Given the description of an element on the screen output the (x, y) to click on. 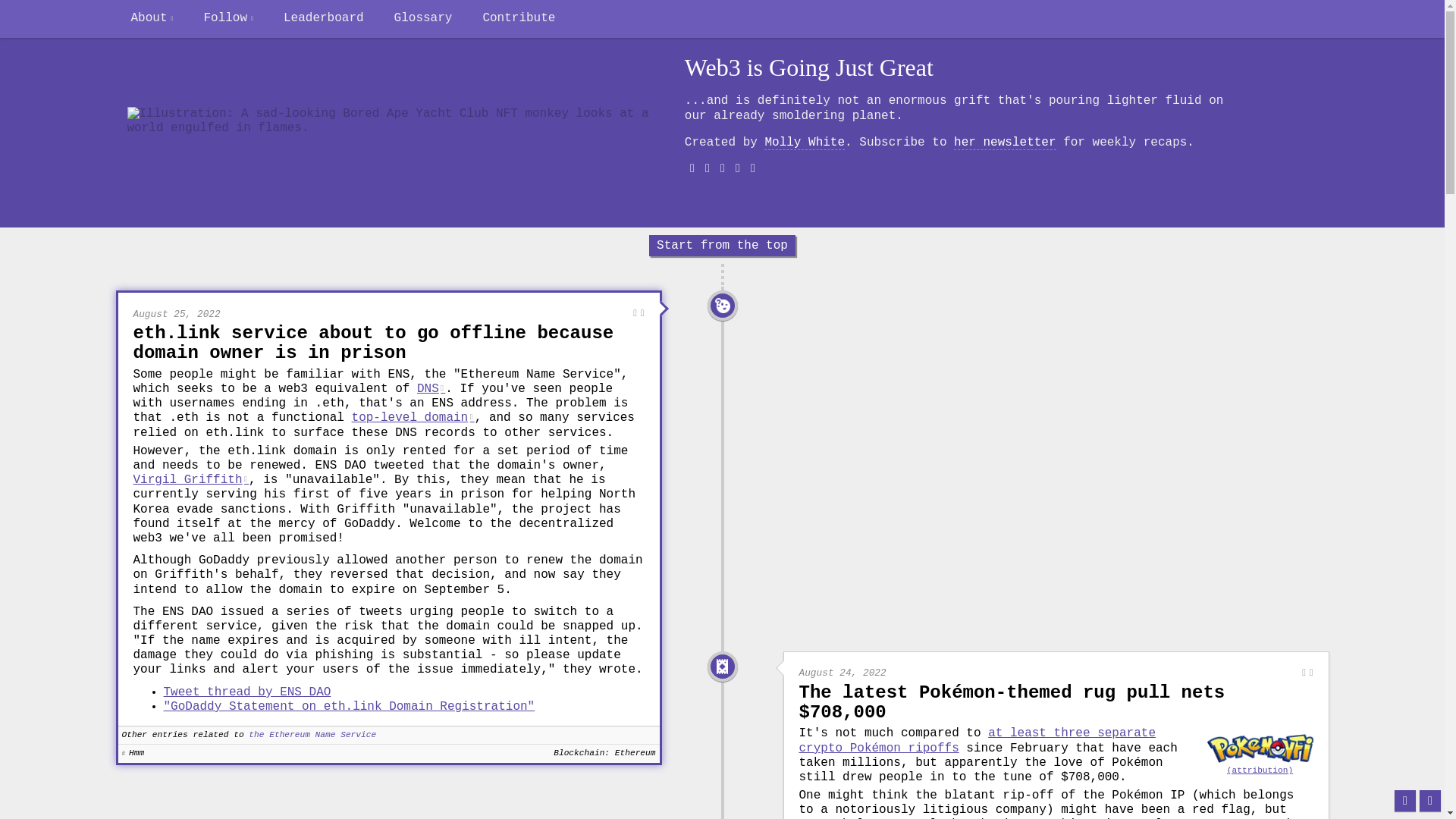
Rug pull (721, 666)
play-to-earn (1191, 818)
Contribute (518, 18)
DNS (430, 388)
Leaderboard (322, 18)
Glossary (422, 18)
Web3 is Going Just Great (808, 67)
Tweet thread by ENS DAO (247, 692)
Virgil Griffith (190, 479)
her newsletter (1004, 142)
Start from the top (721, 245)
"GoDaddy Statement on eth.link Domain Registration" (349, 706)
Hmm (721, 305)
the Ethereum Name Service (311, 735)
